Given the description of an element on the screen output the (x, y) to click on. 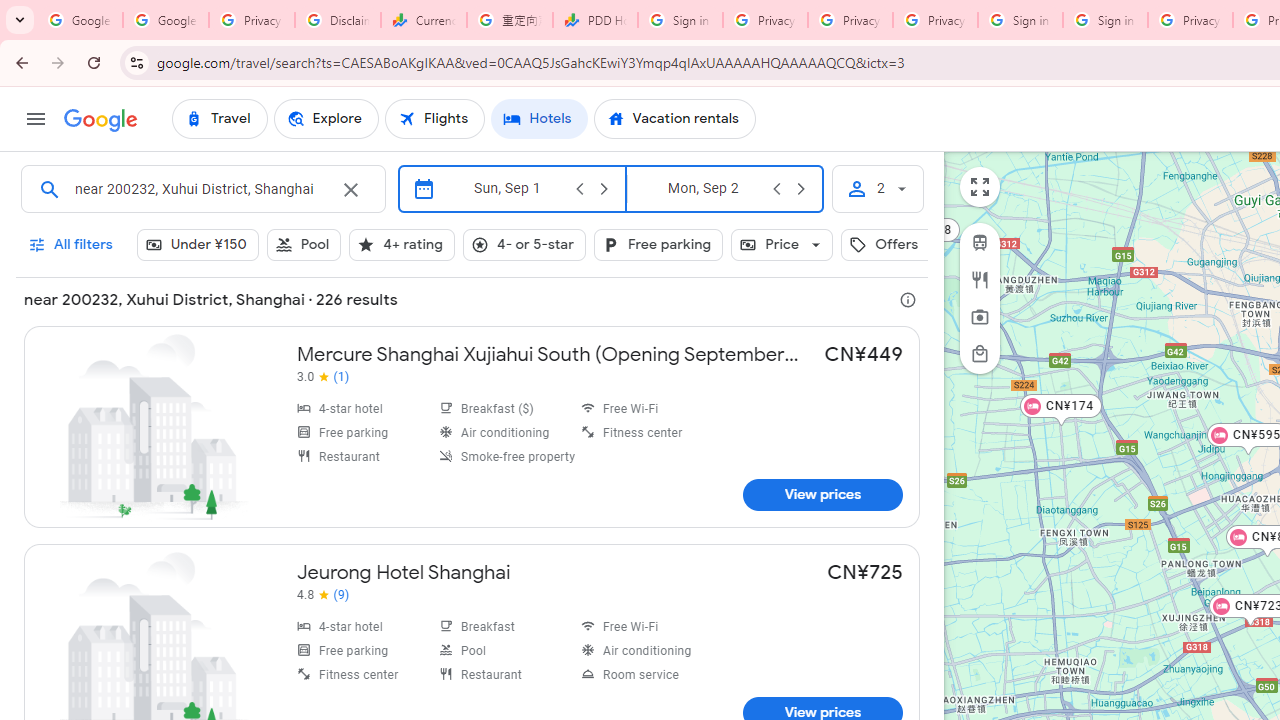
Attractions (979, 317)
Check-in (506, 188)
Free parking, Amenities, Not selected (658, 244)
All filters (72, 244)
Offers, Not selected (896, 244)
Hotels (539, 118)
Number of travelers. Current number of travelers is 2. (877, 188)
Clear (350, 189)
Areas for shopping (979, 353)
Areas for dining (979, 279)
